Given the description of an element on the screen output the (x, y) to click on. 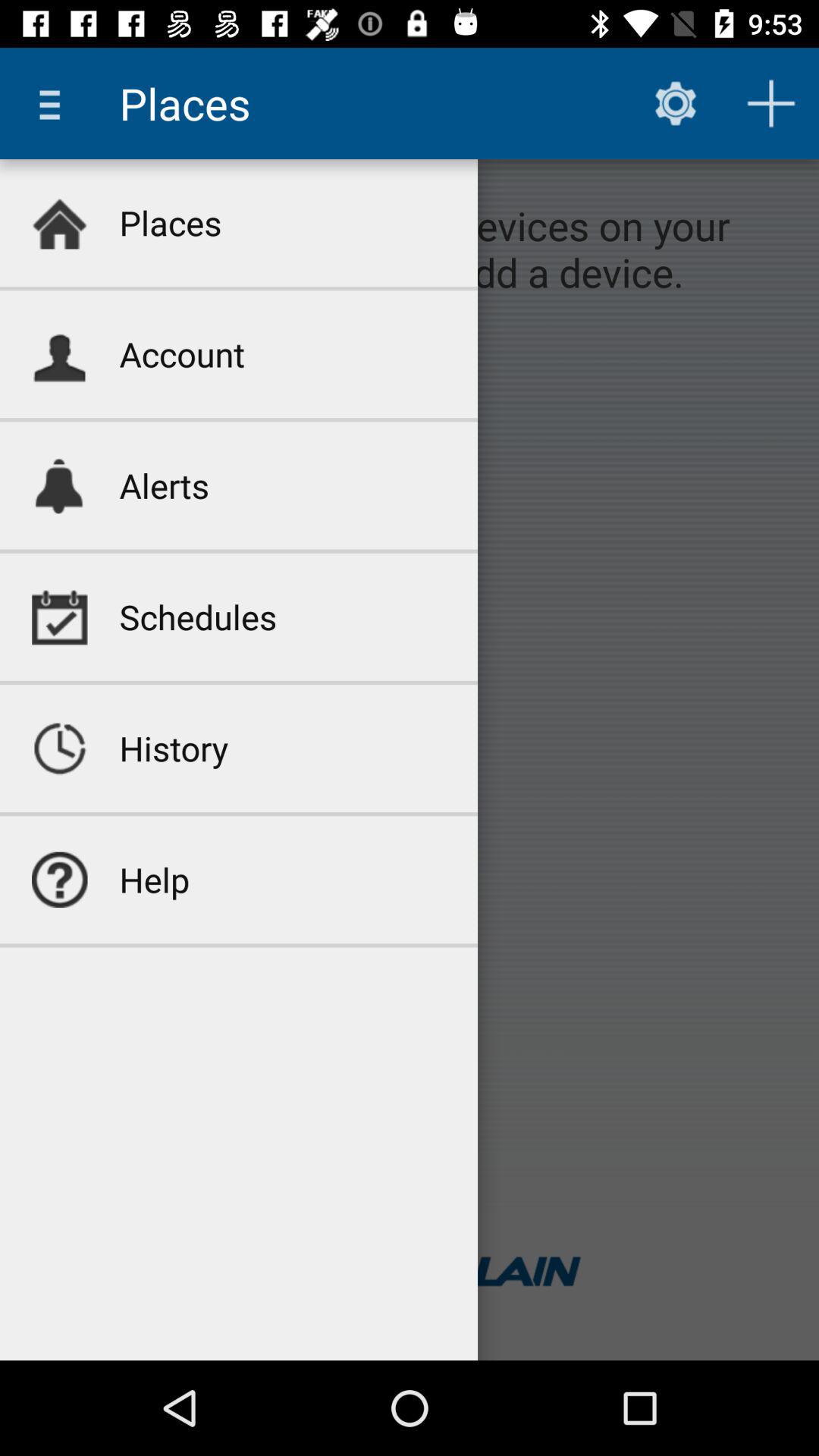
click on the second icon from the top of the page (59, 353)
click on icon next to history (59, 748)
